Given the description of an element on the screen output the (x, y) to click on. 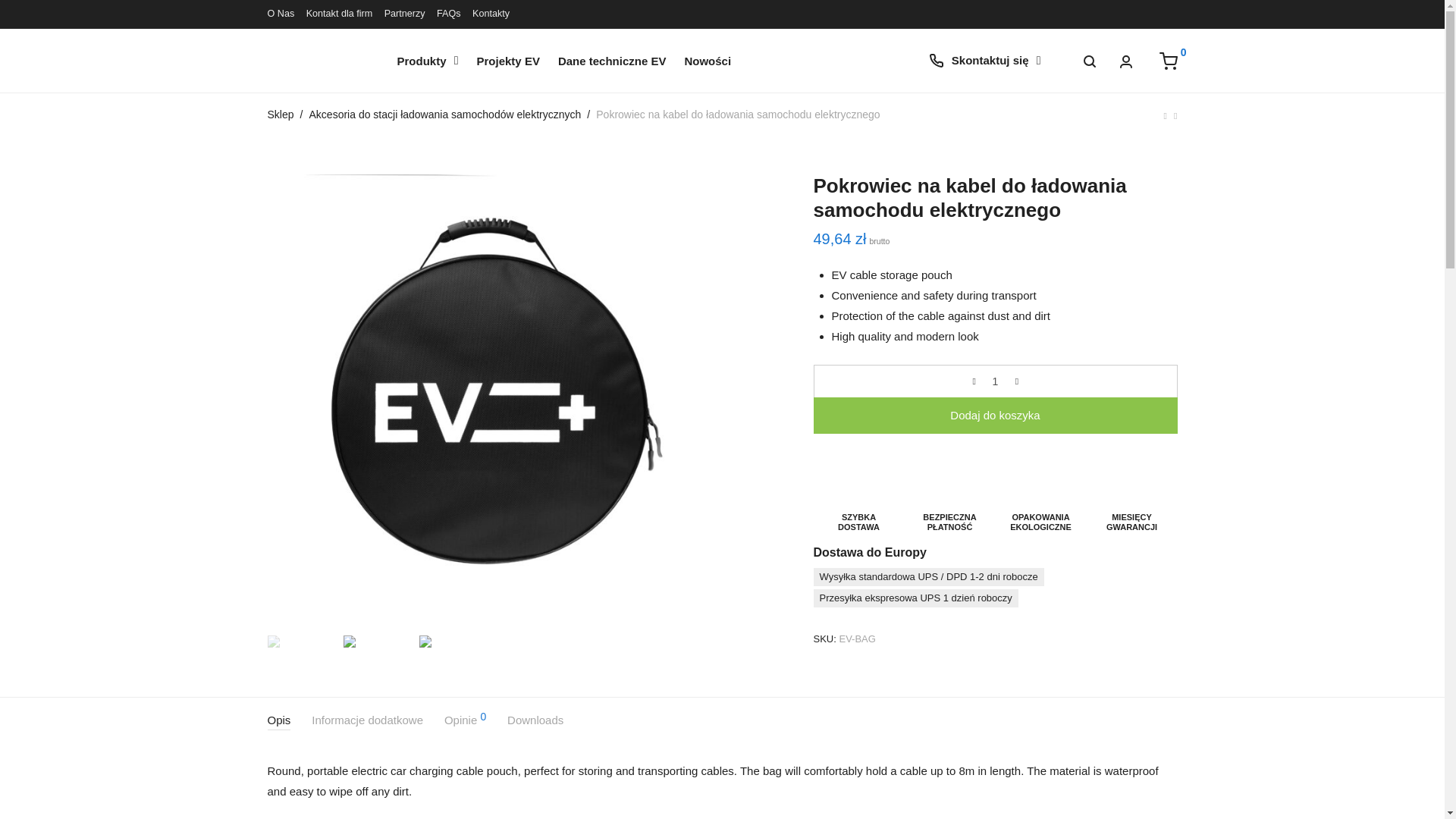
Opinie 0 (465, 720)
Dodaj do koszyka (994, 415)
Dane techniczne EV (611, 59)
Informacje dodatkowe (367, 720)
Kontakty (490, 13)
Partnerzy (404, 13)
Sklep (280, 114)
Produkty (427, 59)
0 (1168, 61)
Opis (277, 720)
